Given the description of an element on the screen output the (x, y) to click on. 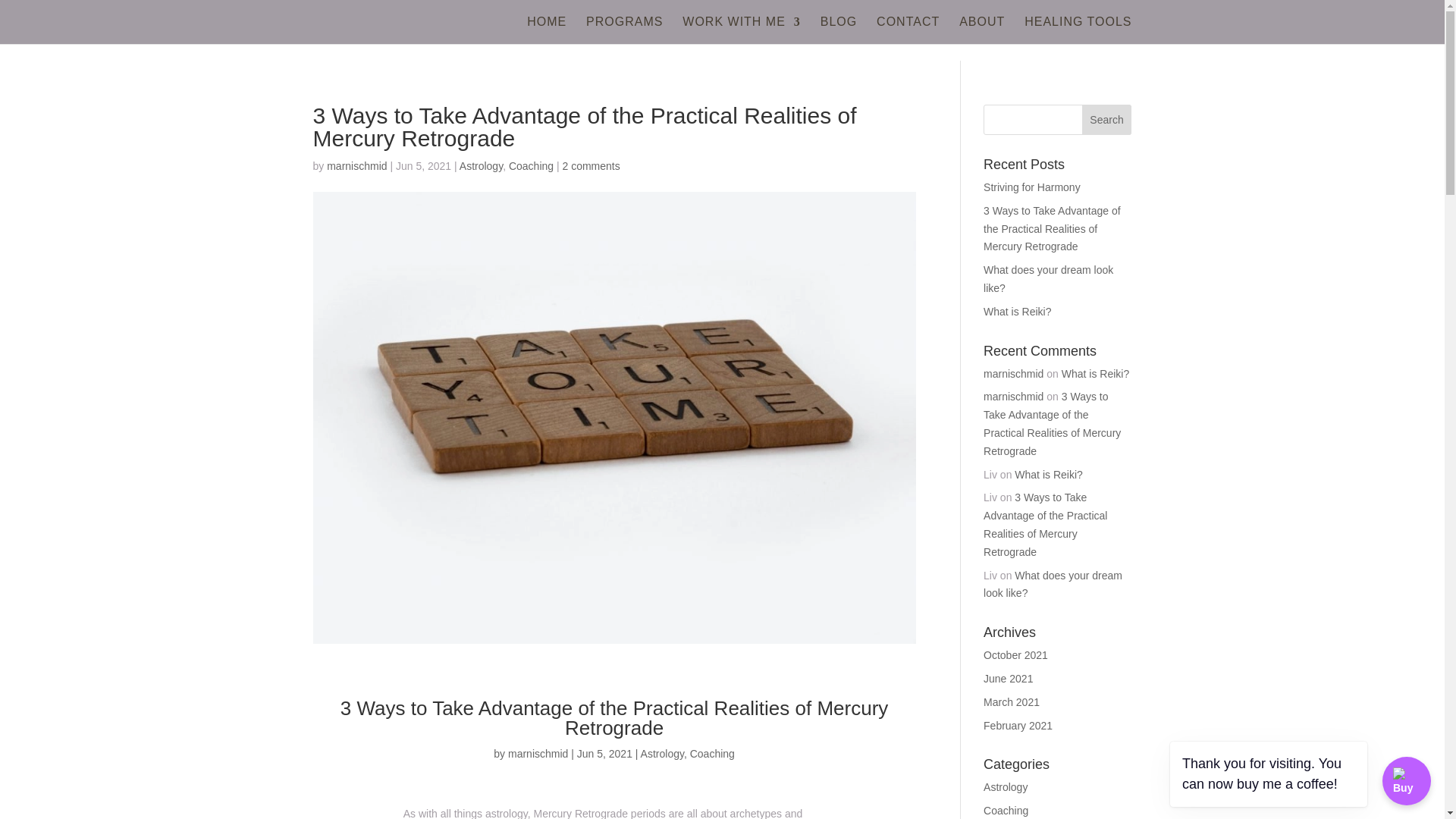
Coaching (712, 753)
Posts by marnischmid (356, 165)
ABOUT (981, 30)
marnischmid (356, 165)
PROGRAMS (624, 30)
marnischmid (537, 753)
Astrology (662, 753)
2 comments (591, 165)
HOME (546, 30)
Posts by marnischmid (537, 753)
BLOG (839, 30)
CONTACT (907, 30)
Search (1106, 119)
WORK WITH ME (741, 30)
HEALING TOOLS (1078, 30)
